Given the description of an element on the screen output the (x, y) to click on. 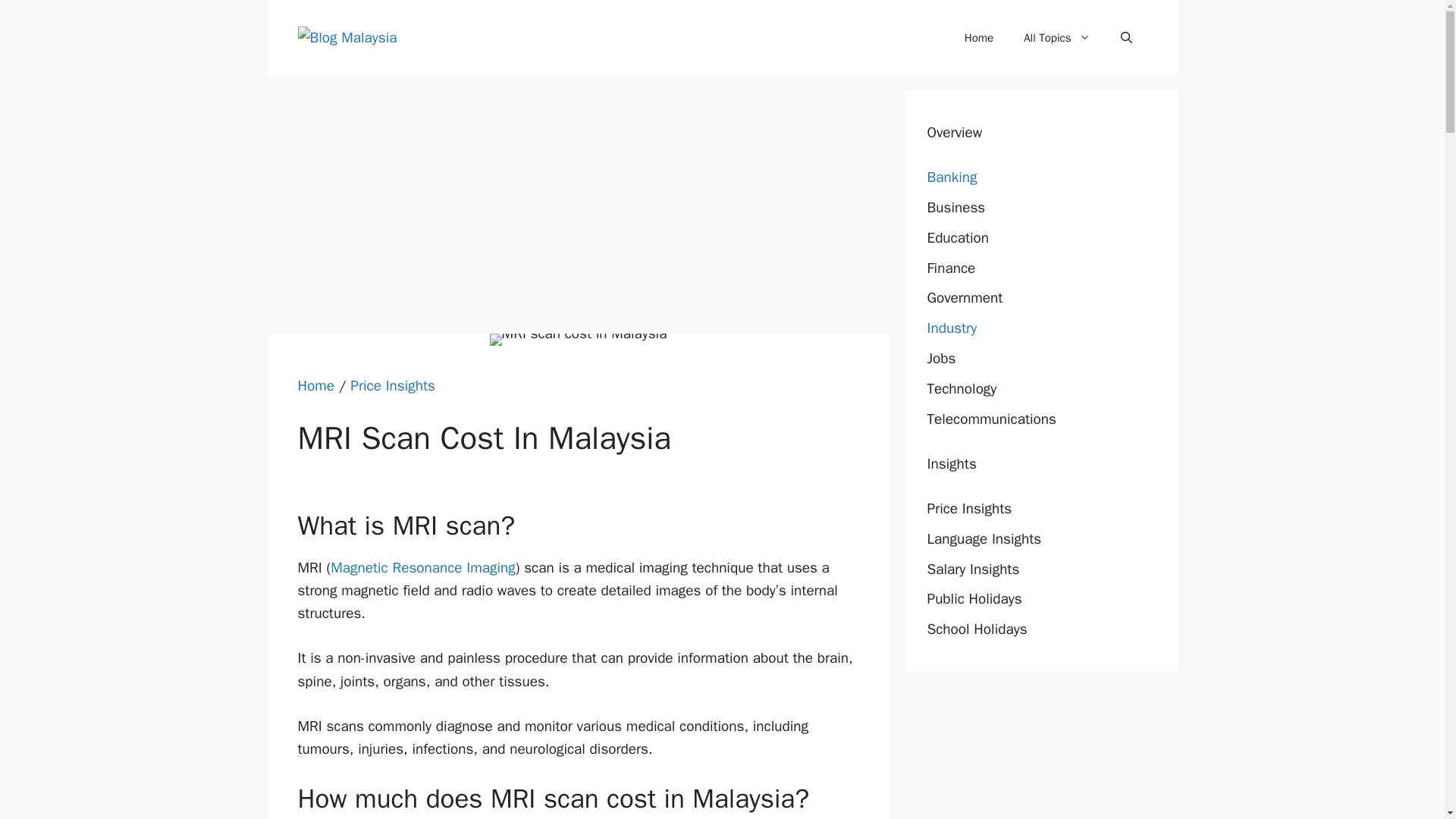
All Topics (1057, 37)
MRI Scan Cost In Malaysia 1 (577, 339)
Magnetic Resonance Imaging (422, 567)
Home (979, 37)
Price Insights (392, 385)
Home (315, 385)
